Given the description of an element on the screen output the (x, y) to click on. 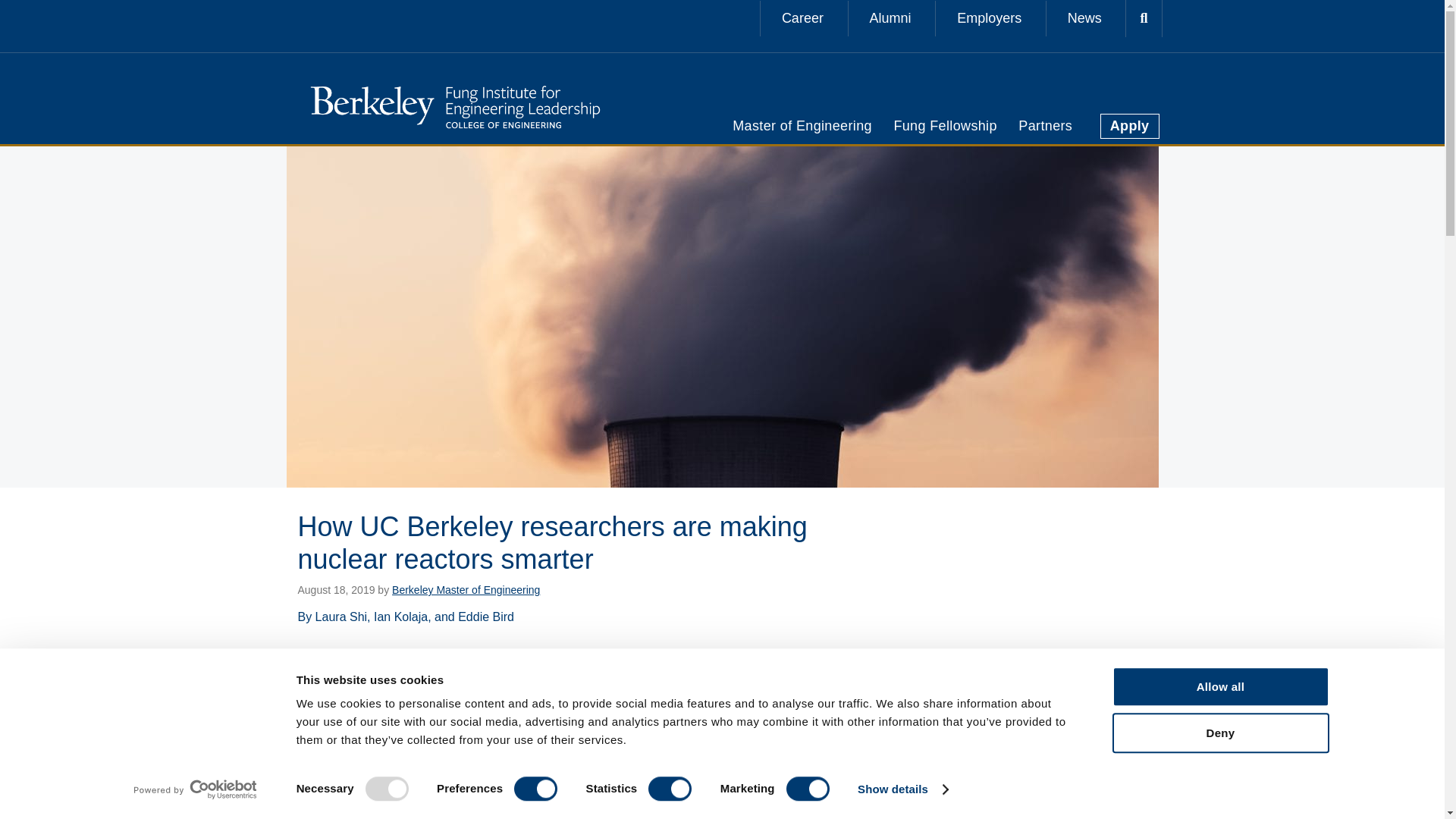
Show details (902, 789)
